Given the description of an element on the screen output the (x, y) to click on. 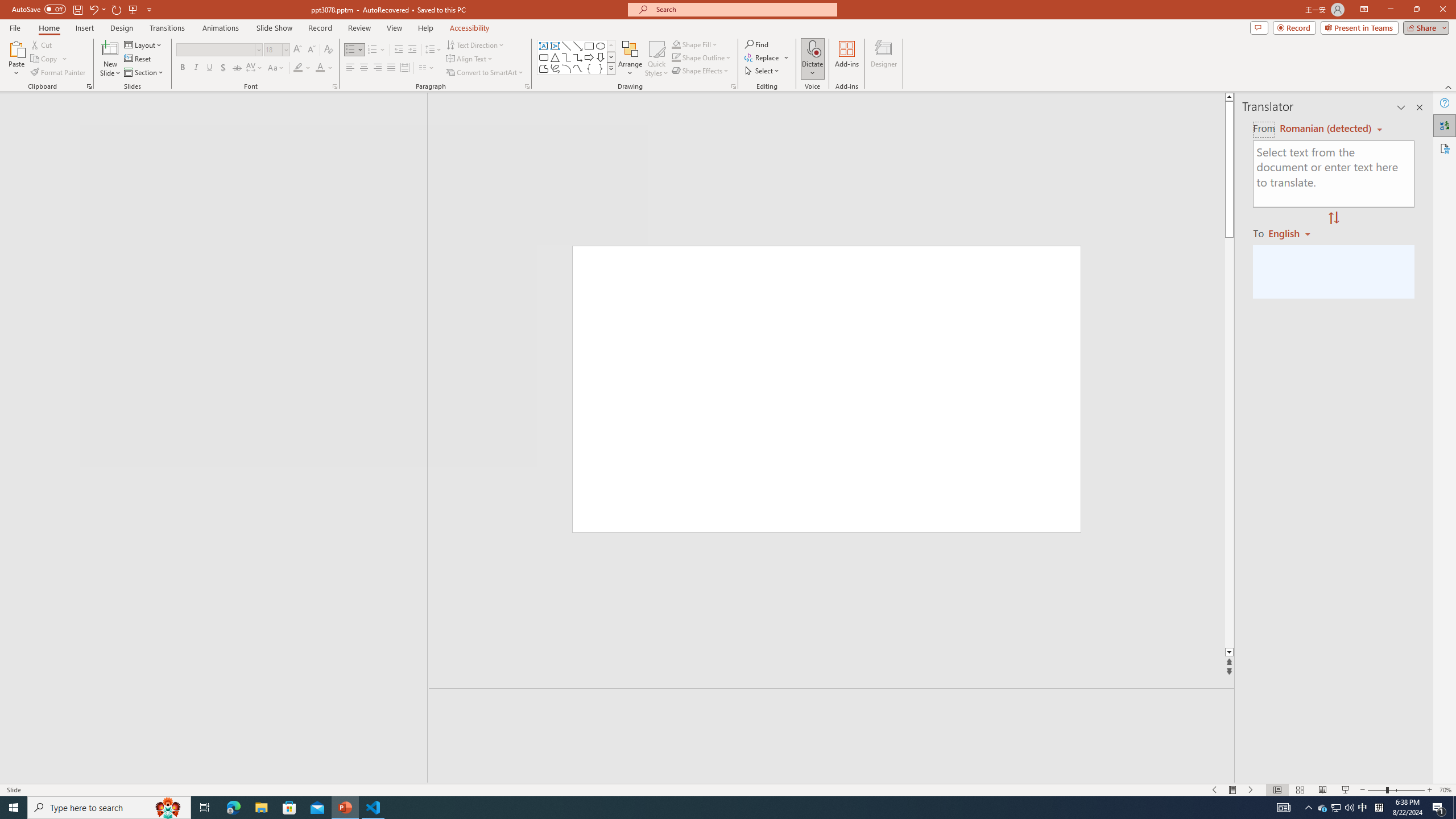
Menu On (1232, 790)
Romanian (1293, 232)
